Given the description of an element on the screen output the (x, y) to click on. 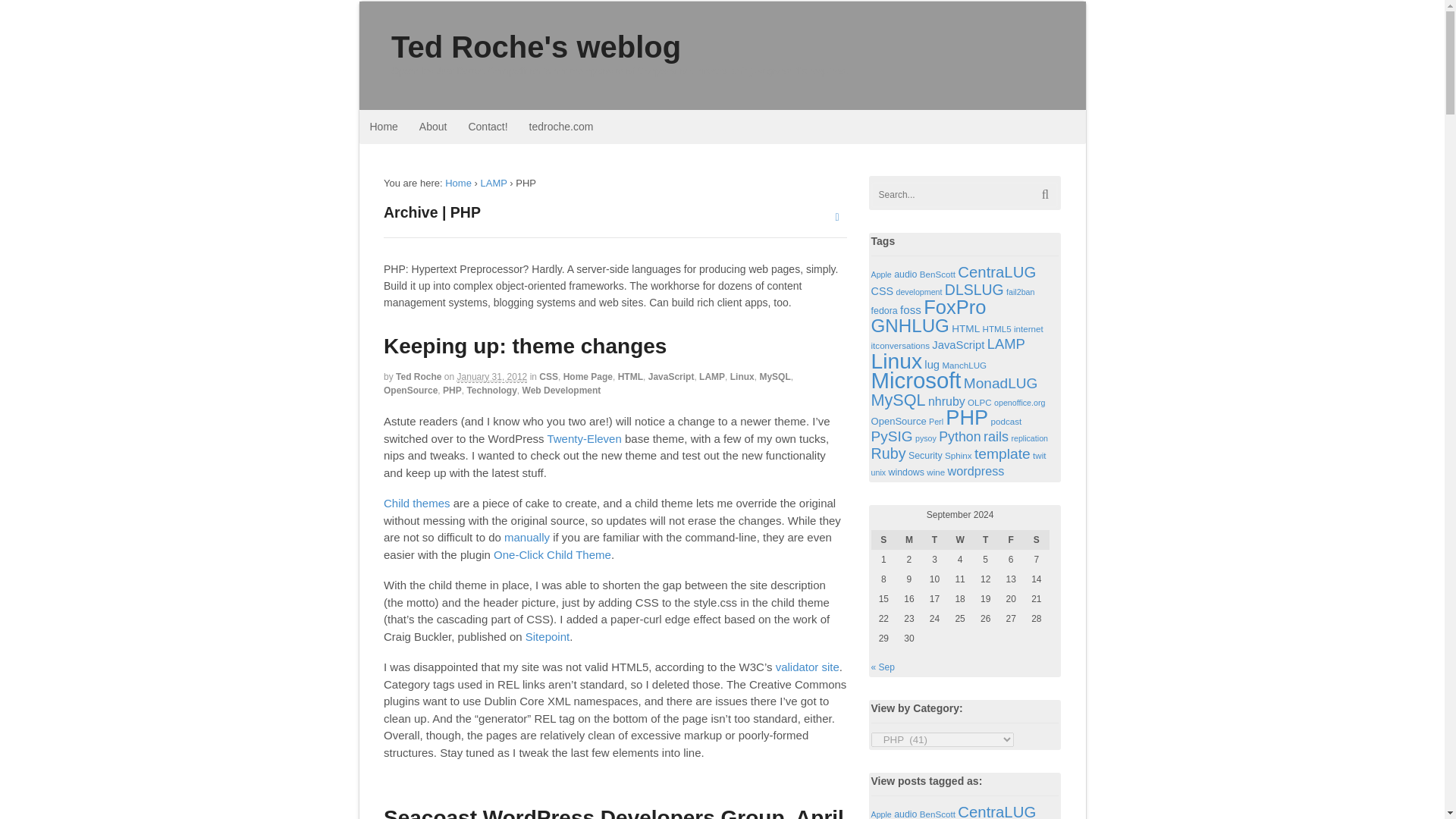
Posts by Ted Roche (418, 376)
MySQL (774, 376)
Keeping up: theme changes (525, 345)
View all items in Linux (742, 376)
manually (526, 536)
View all items in Web Development (561, 389)
2012-01-31T11:27:30-0500 (492, 377)
OpenSource (411, 389)
LAMP (711, 376)
View all items in JavaScript (670, 376)
